Given the description of an element on the screen output the (x, y) to click on. 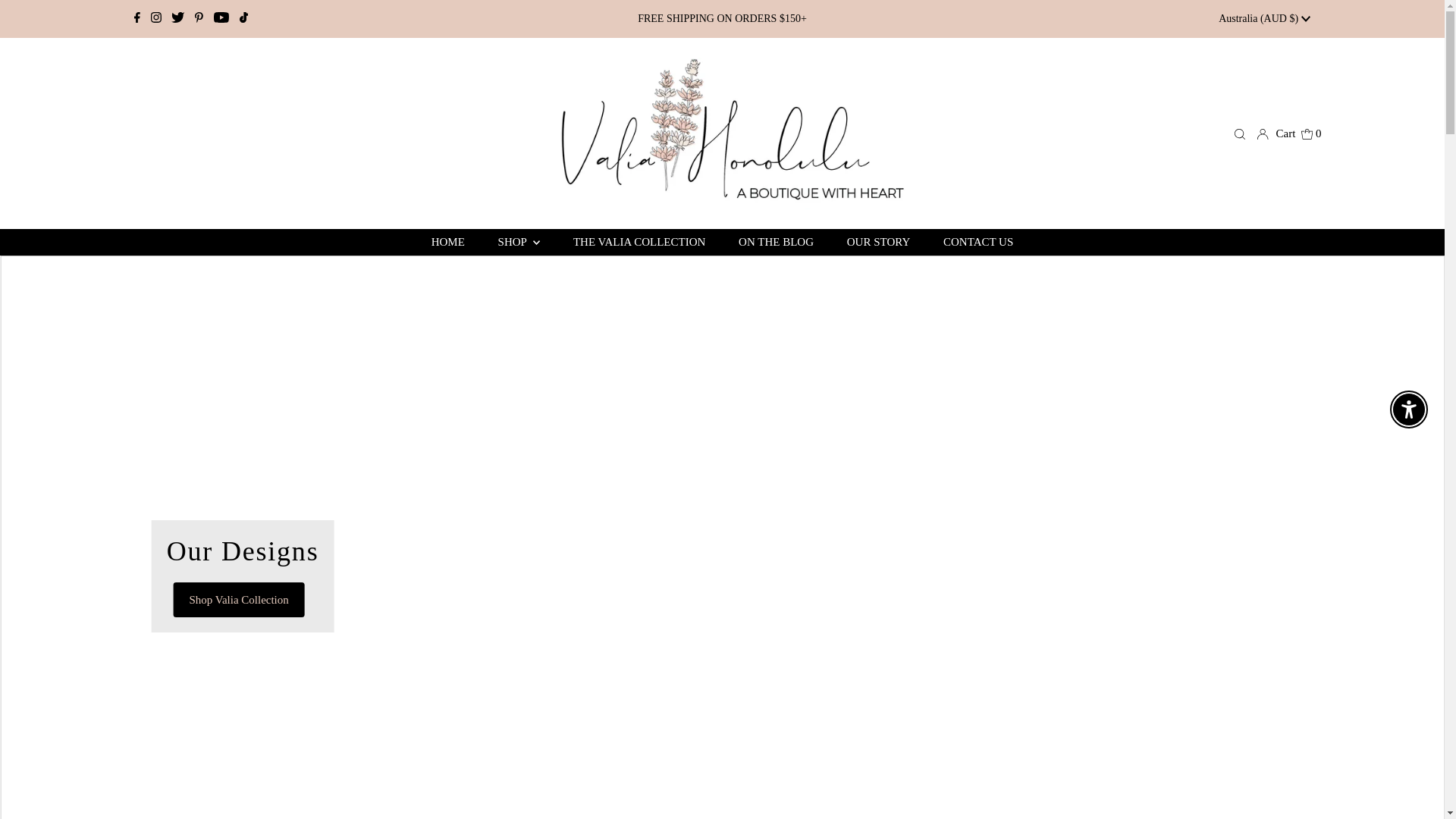
HOME (448, 242)
